Given the description of an element on the screen output the (x, y) to click on. 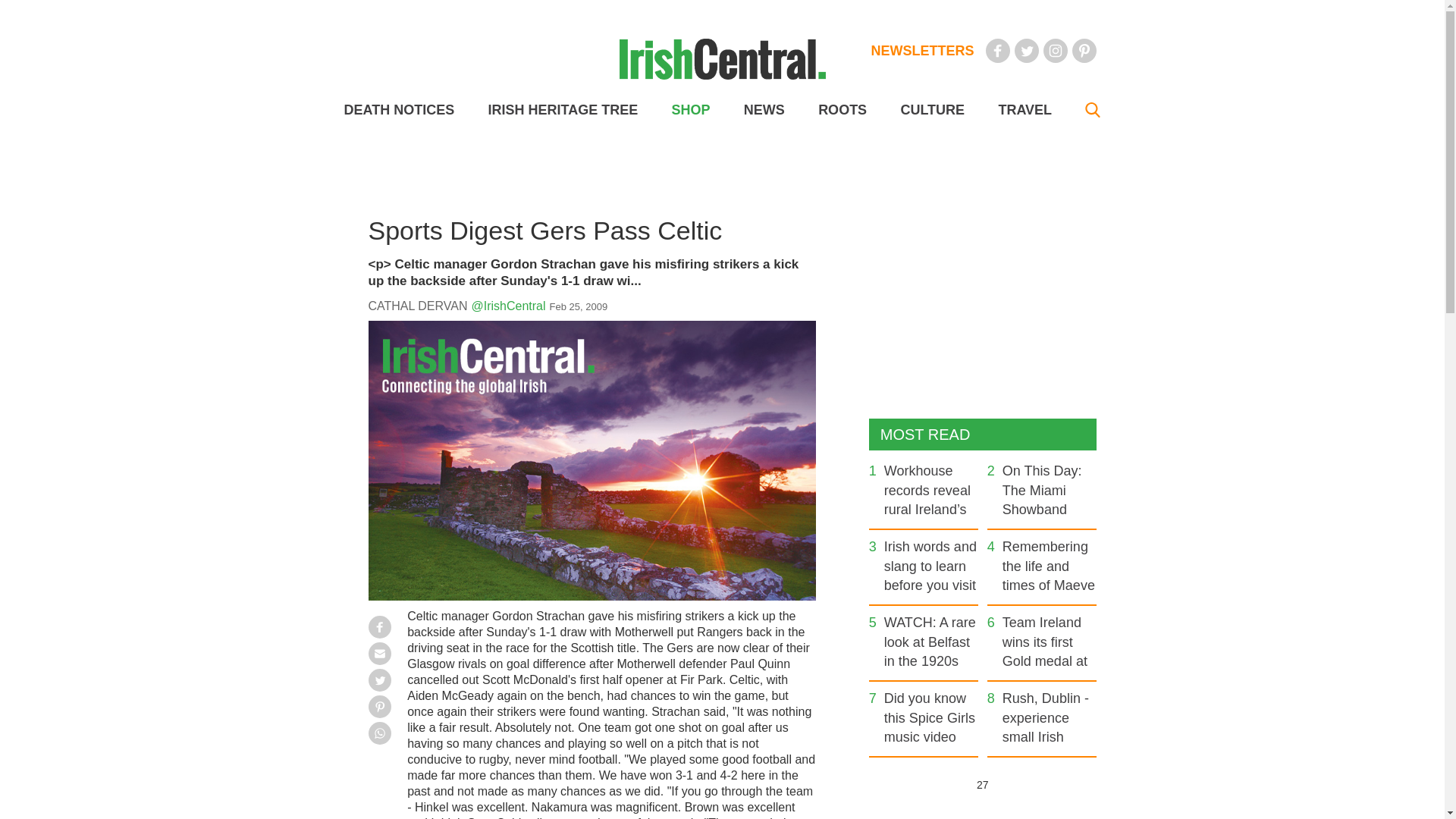
DEATH NOTICES (398, 109)
IRISH HERITAGE TREE (562, 109)
SHOP (690, 109)
NEWS (764, 109)
ROOTS (842, 109)
27 (981, 784)
TRAVEL (1024, 109)
CULTURE (931, 109)
NEWSLETTERS (922, 50)
